Given the description of an element on the screen output the (x, y) to click on. 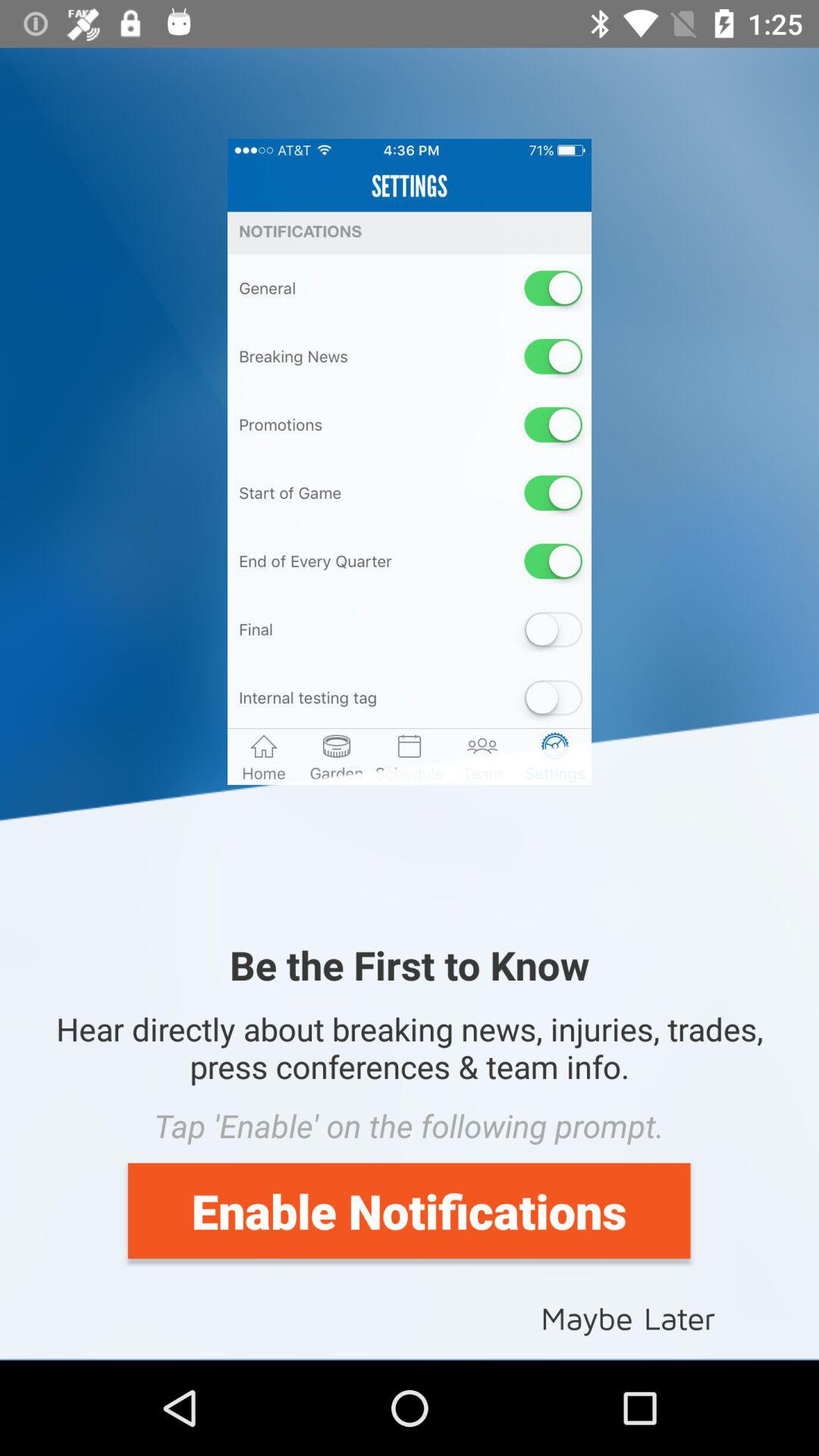
flip to the enable notifications icon (408, 1210)
